Given the description of an element on the screen output the (x, y) to click on. 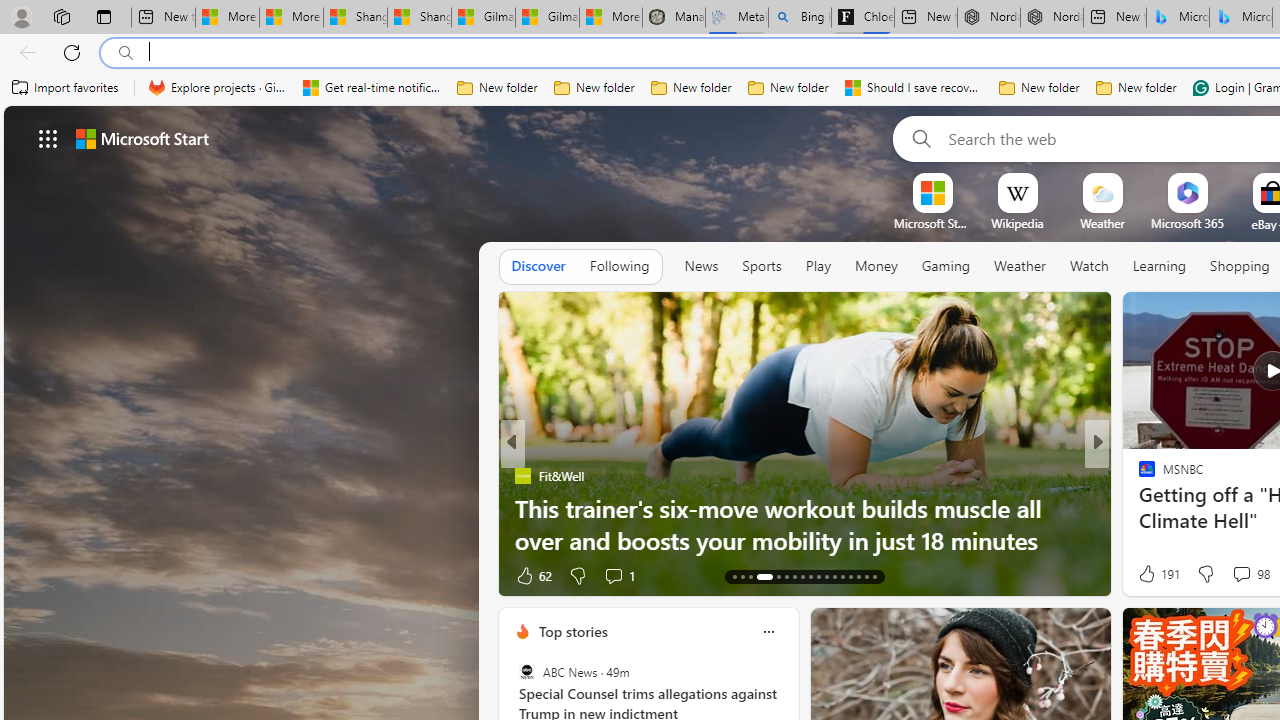
AutomationID: tab-21 (810, 576)
Top stories (572, 631)
View comments 98 Comment (1249, 574)
AutomationID: tab-25 (842, 576)
Search icon (125, 53)
View comments 1k Comment (11, 575)
AutomationID: tab-18 (786, 576)
View comments 1 Comment (1229, 575)
Bing Real Estate - Home sales and rental listings (799, 17)
Import favorites (65, 88)
